Given the description of an element on the screen output the (x, y) to click on. 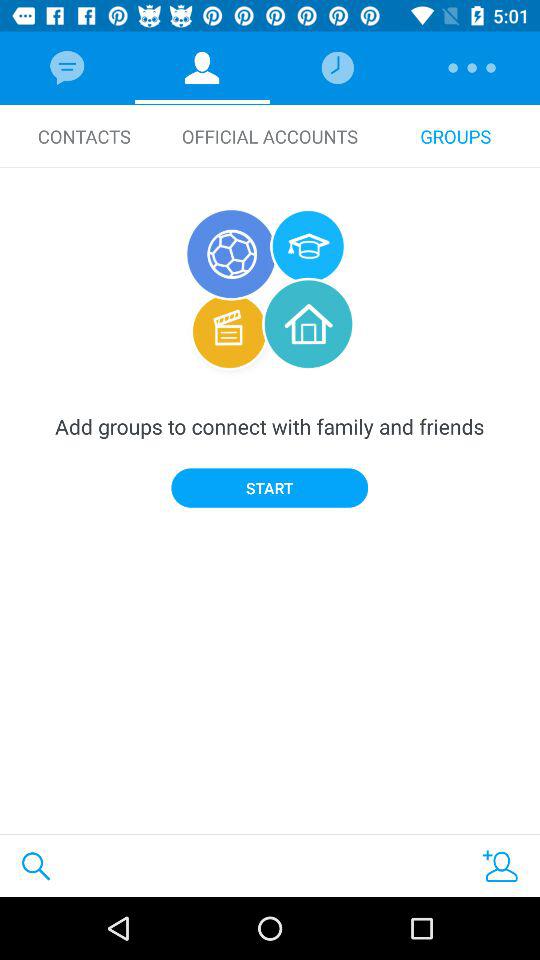
choose icon to the left of official accounts (84, 136)
